Given the description of an element on the screen output the (x, y) to click on. 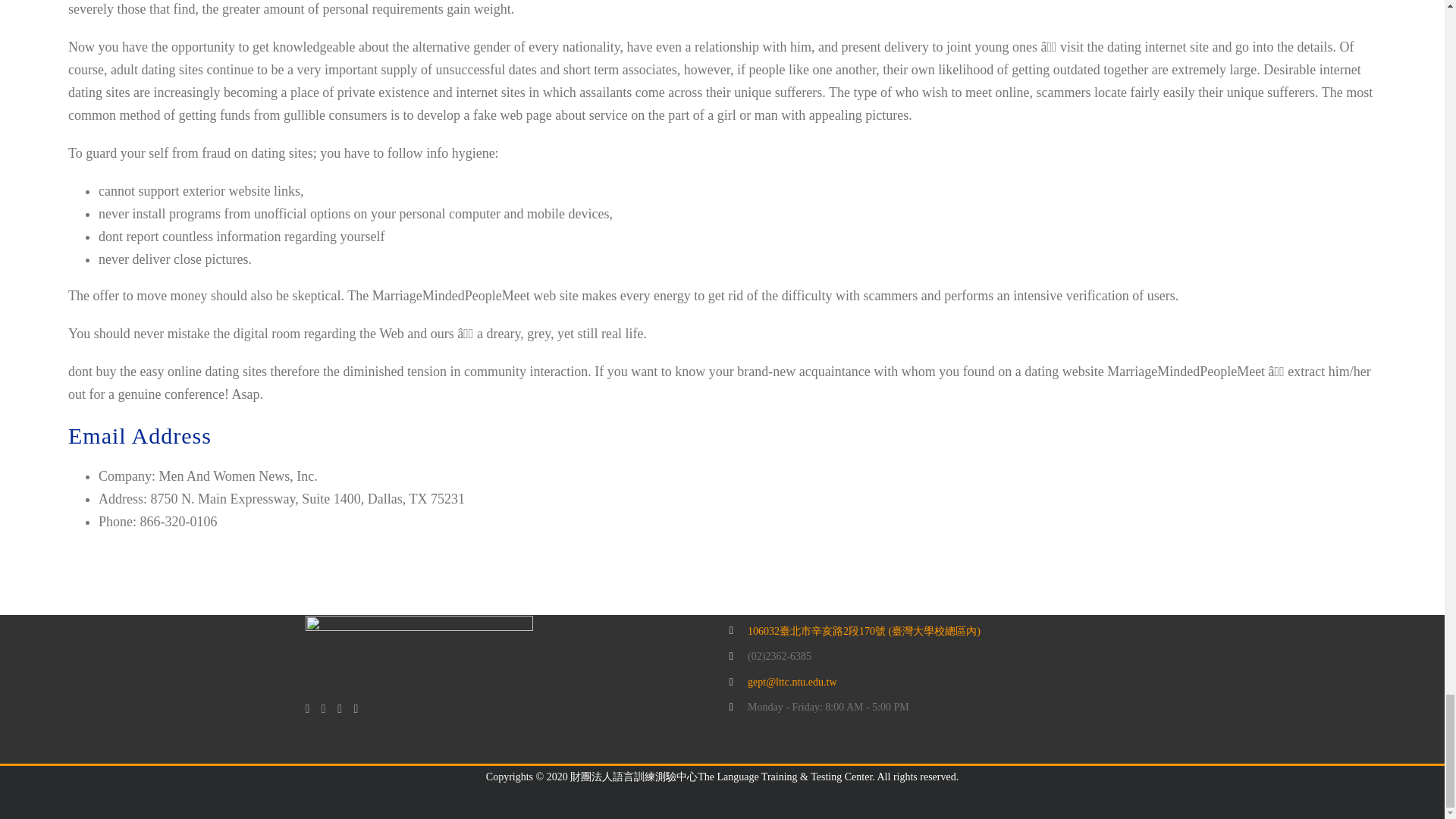
YouTube (323, 708)
Instagram (339, 708)
Blogger (355, 708)
Facebook (306, 708)
